Given the description of an element on the screen output the (x, y) to click on. 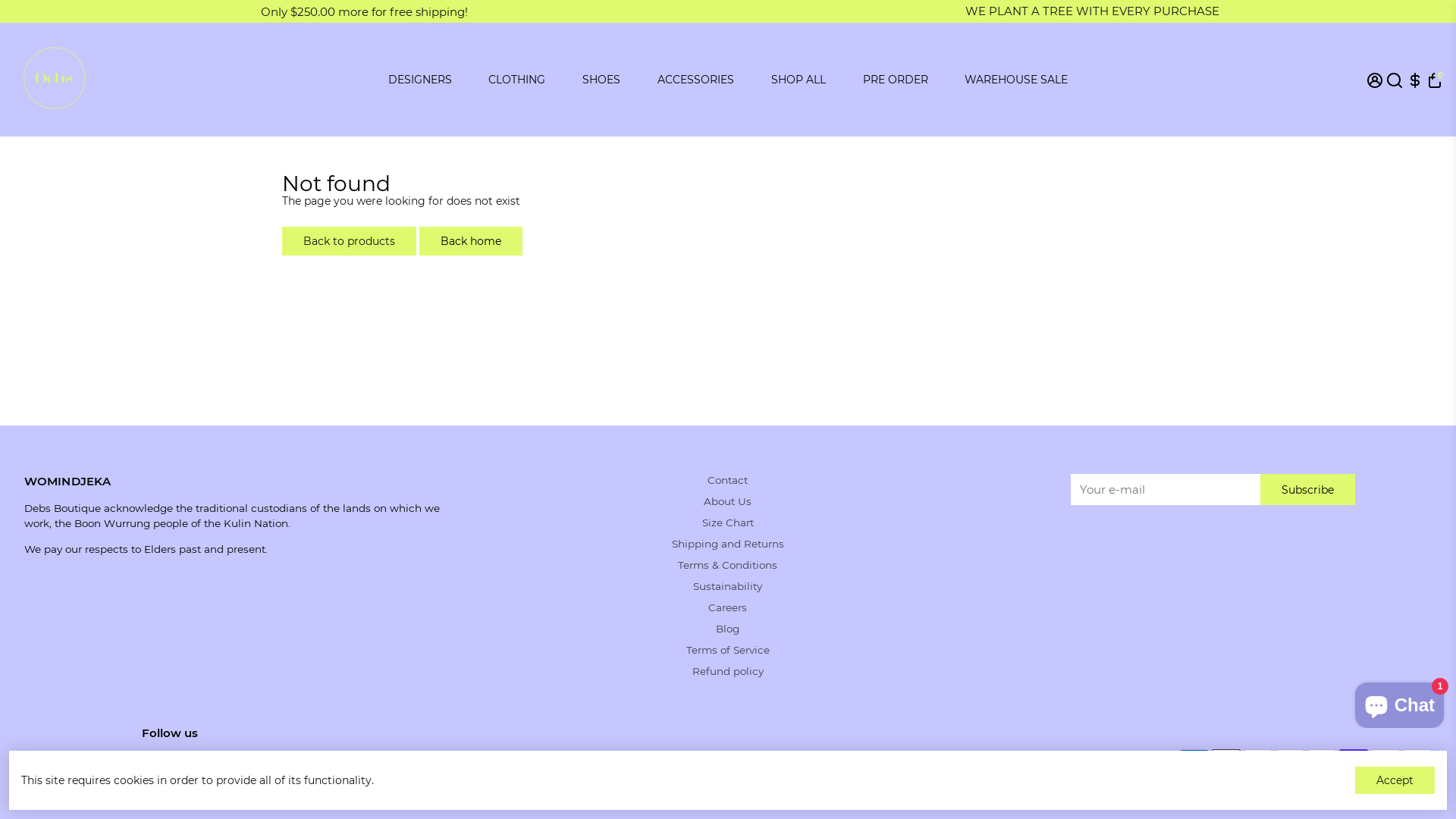
SHOES Element type: text (601, 79)
PRE ORDER Element type: text (895, 79)
Careers Element type: text (727, 607)
Back home Element type: text (470, 240)
SHOP ALL Element type: text (798, 79)
Refund policy Element type: text (727, 671)
Terms & Conditions Element type: text (727, 564)
Accept Element type: text (1394, 779)
Shipping and Returns Element type: text (727, 543)
Shopify online store chat Element type: hover (1399, 702)
Back to products Element type: text (349, 240)
CLOTHING Element type: text (516, 79)
DESIGNERS Element type: text (420, 79)
Terms of Service Element type: text (727, 649)
Sustainability Element type: text (727, 586)
Subscribe Element type: text (1307, 489)
WAREHOUSE SALE Element type: text (1015, 79)
Size Chart Element type: text (727, 522)
ACCESSORIES Element type: text (695, 79)
Contact Element type: text (727, 479)
Blog Element type: text (727, 628)
About Us Element type: text (727, 501)
